Given the description of an element on the screen output the (x, y) to click on. 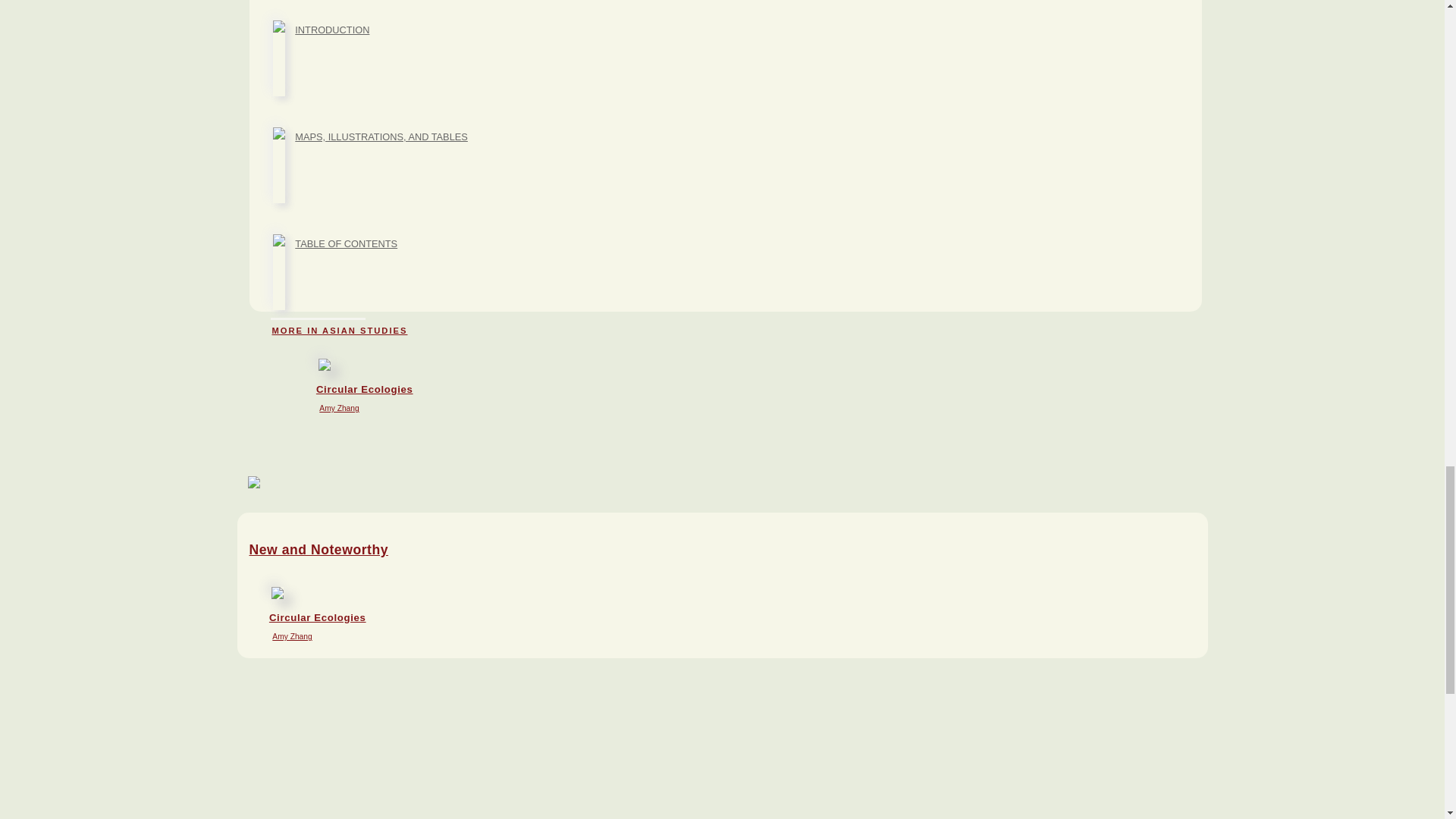
INTRODUCTION (742, 390)
MORE IN ASIAN STUDIES (332, 30)
MAPS, ILLUSTRATIONS, AND TABLES (338, 329)
TABLE OF CONTENTS (381, 136)
